Given the description of an element on the screen output the (x, y) to click on. 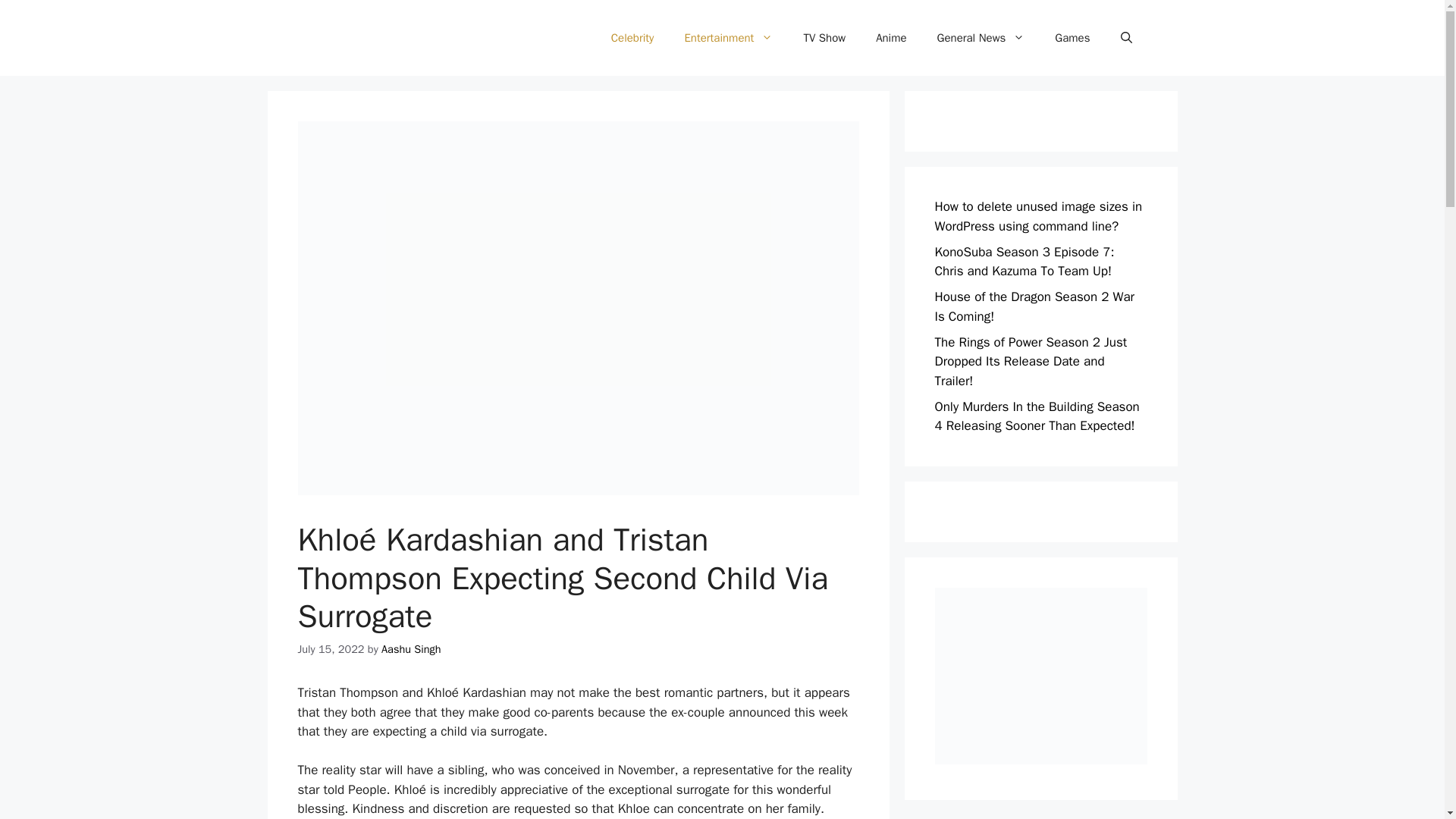
House of the Dragon Season 2 War Is Coming! (1034, 306)
View all posts by Aashu Singh (411, 649)
Anime (890, 37)
Games (1072, 37)
Entertainment (727, 37)
Celebrity (632, 37)
Aashu Singh (411, 649)
General News (981, 37)
